Given the description of an element on the screen output the (x, y) to click on. 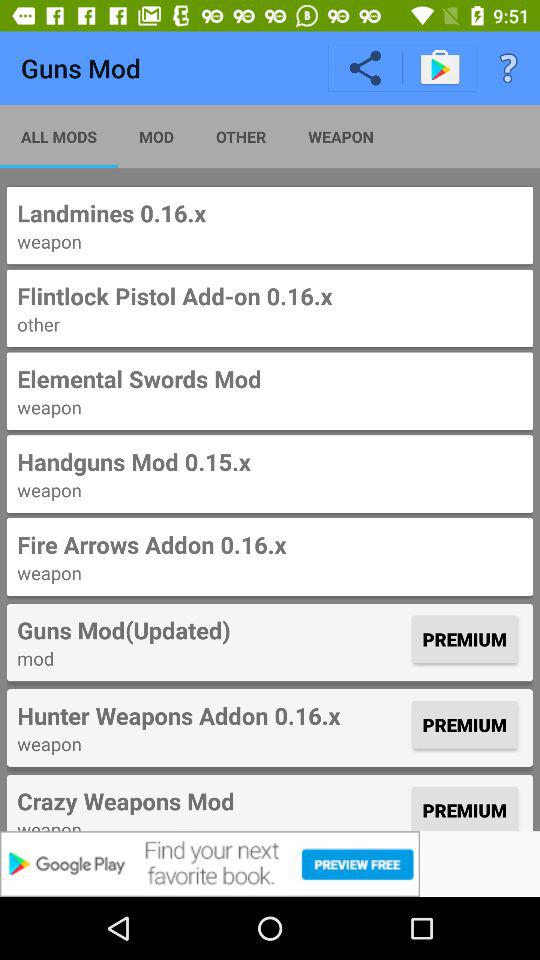
click on the play store icon at the top right corner of the page (440, 68)
click on handguns mod 015x (269, 462)
click on elemental swords mod (269, 378)
click on the elemental swords mod (269, 391)
click on the field landmines 016x (269, 225)
click on mod which is shown next to all mods (156, 136)
click on the fire arrows addon 016x (269, 557)
